Given the description of an element on the screen output the (x, y) to click on. 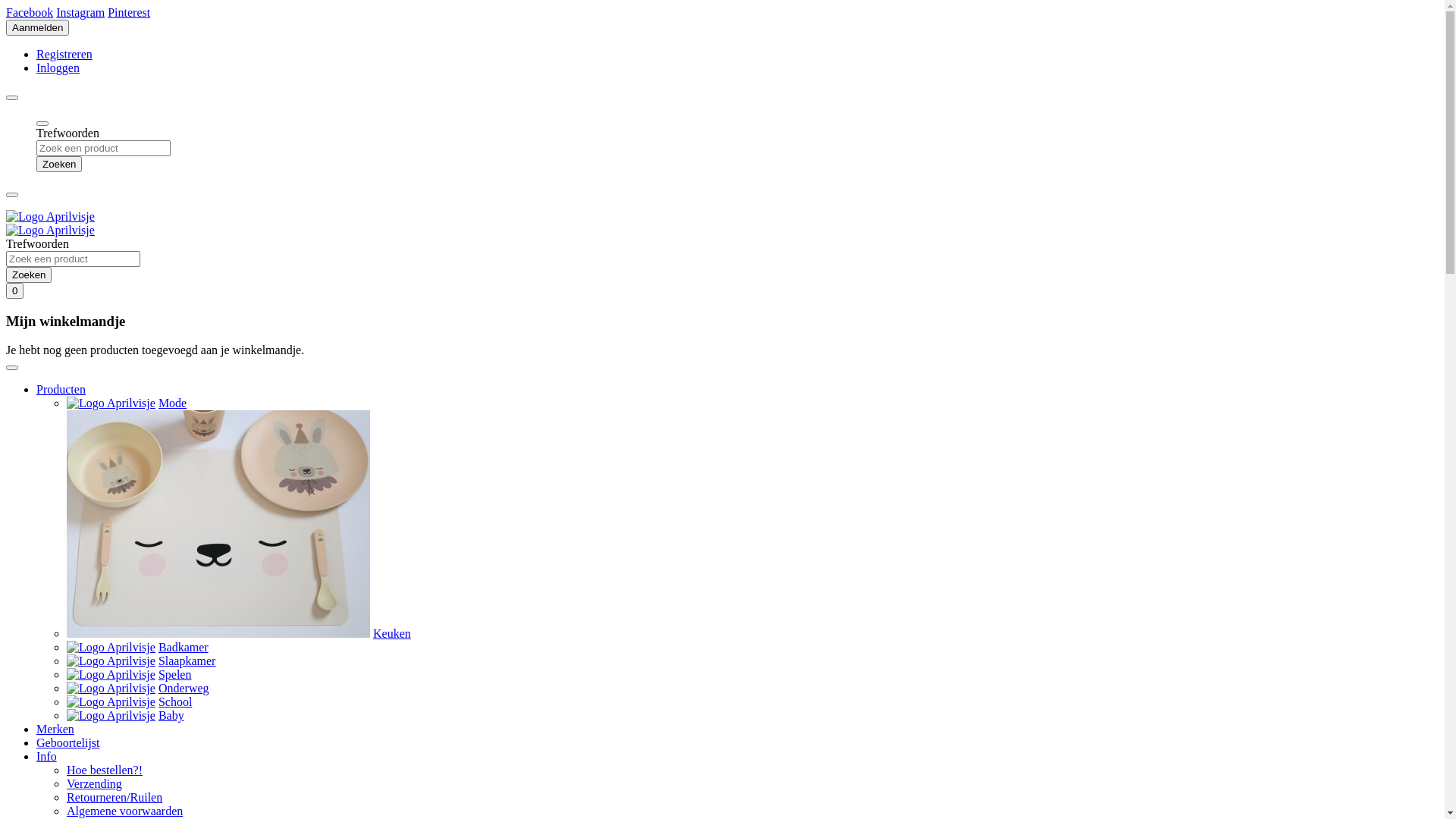
Mode Element type: text (172, 402)
Spelen Element type: text (174, 674)
Verzending Element type: text (94, 783)
Badkamer Element type: text (183, 646)
Onderweg Element type: text (183, 687)
Zoeken Element type: text (58, 164)
Retourneren/Ruilen Element type: text (114, 796)
Facebook Element type: text (29, 12)
Instagram Element type: text (80, 12)
Keuken Element type: text (392, 633)
Merken Element type: text (55, 728)
Geboortelijst Element type: text (68, 742)
Pinterest Element type: text (128, 12)
Zoeken Element type: text (28, 274)
Aanmelden Element type: text (37, 27)
0 Element type: text (14, 290)
Info Element type: text (46, 755)
Registreren Element type: text (64, 53)
Hoe bestellen?! Element type: text (104, 769)
Inloggen Element type: text (57, 67)
Slaapkamer Element type: text (187, 660)
Producten Element type: text (60, 388)
Baby Element type: text (171, 715)
Algemene voorwaarden Element type: text (124, 810)
School Element type: text (174, 701)
